Given the description of an element on the screen output the (x, y) to click on. 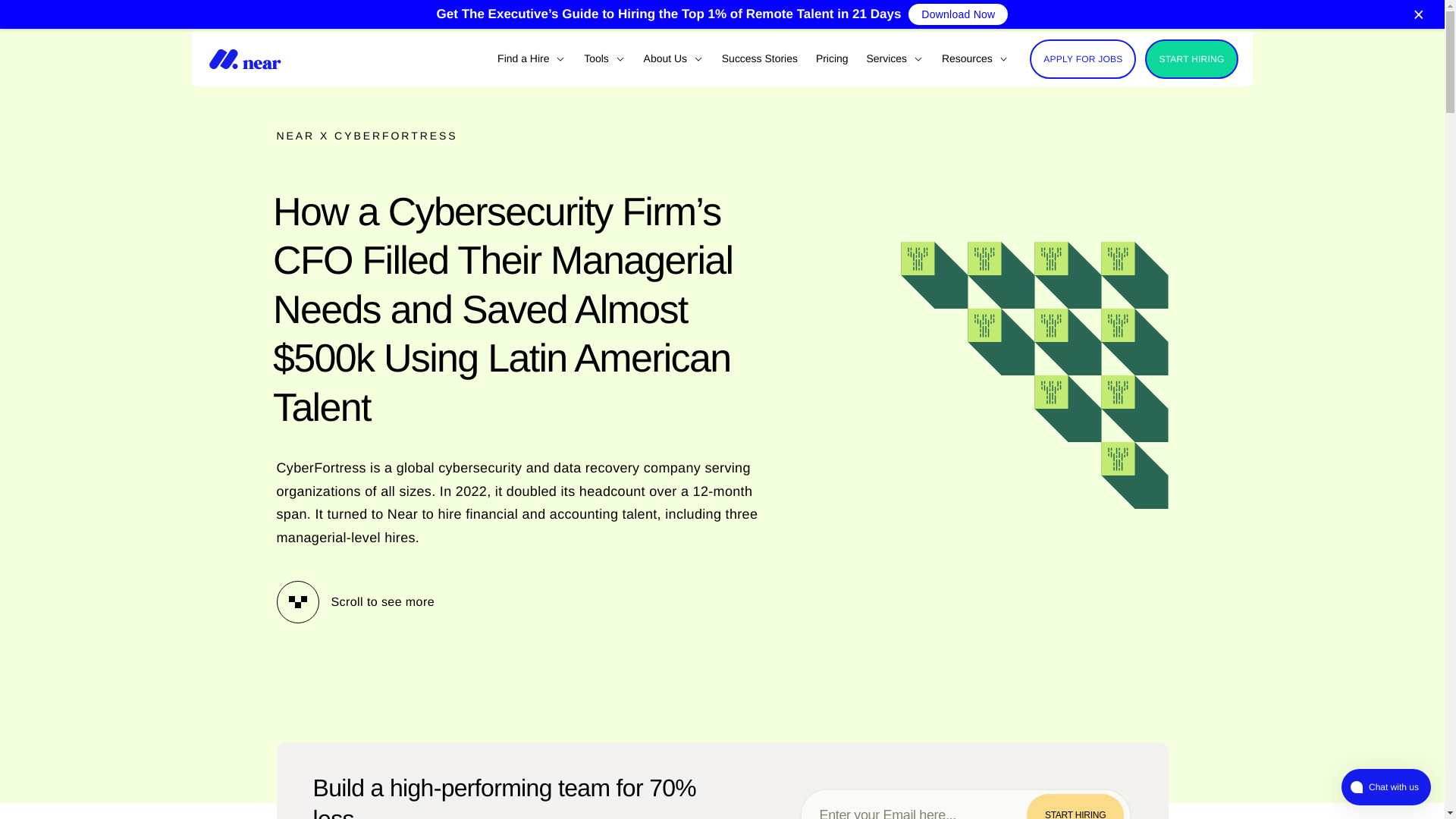
Start Hiring (1075, 806)
